Given the description of an element on the screen output the (x, y) to click on. 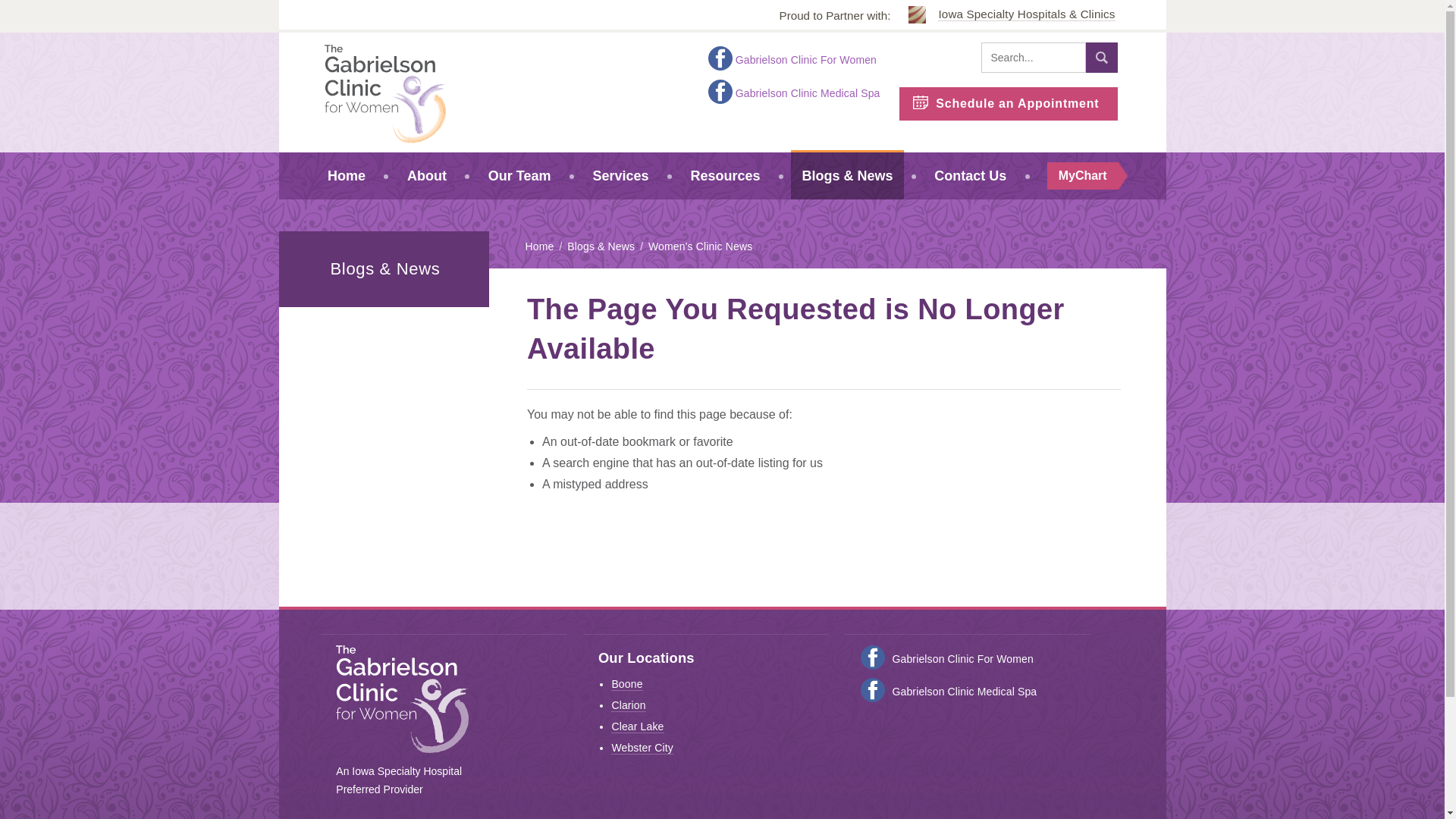
Womens Health Facebook page (872, 657)
search the website (1033, 57)
Search the website (1101, 57)
Search the website (1101, 57)
Womens Health Facebook page (719, 57)
Gabrielson Clinic - Medical Spa Facebook page (872, 689)
Gabrielson Clinic - Medical Spa Facebook page (719, 91)
